Given the description of an element on the screen output the (x, y) to click on. 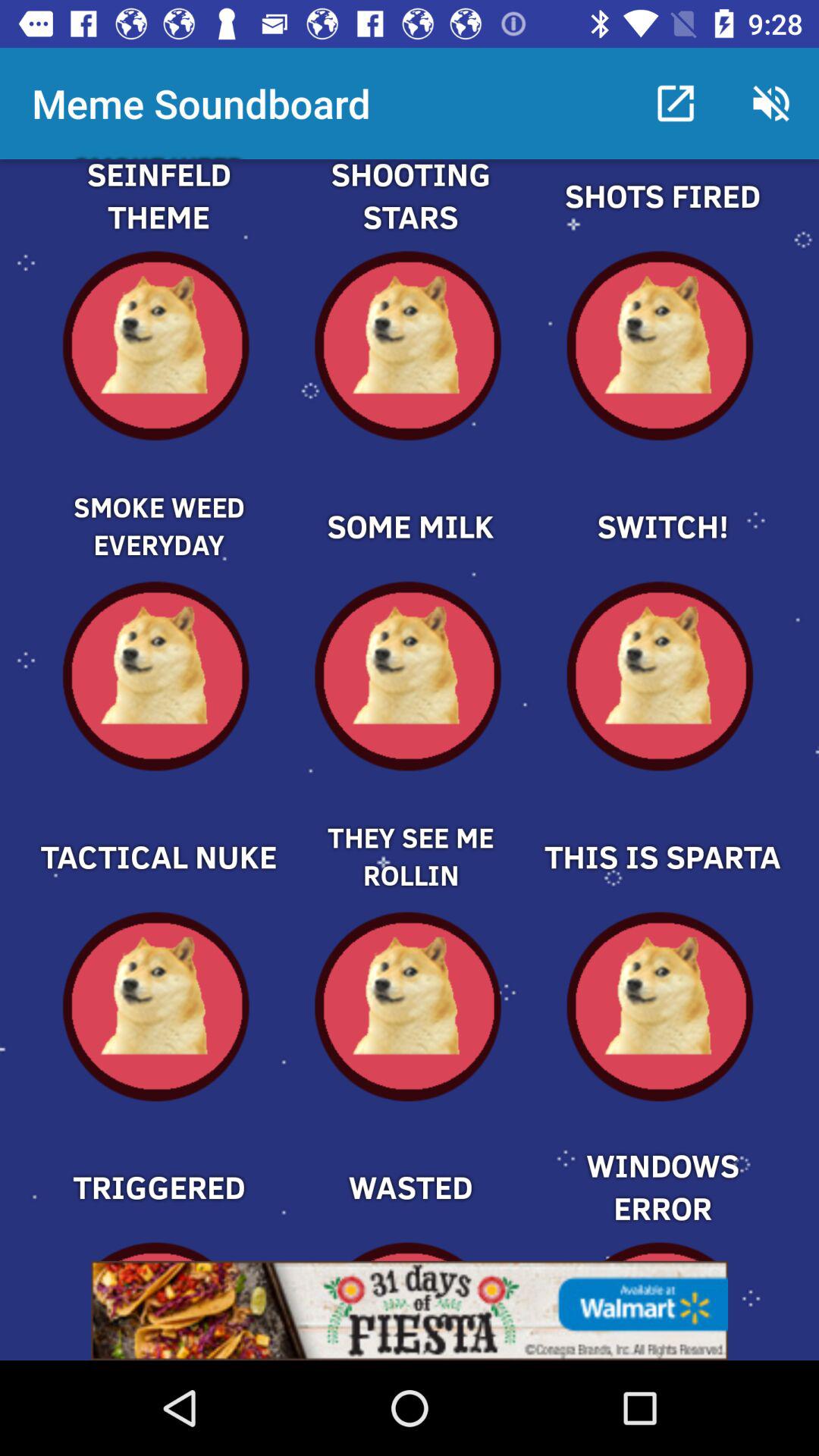
play shooting stars (409, 214)
